Given the description of an element on the screen output the (x, y) to click on. 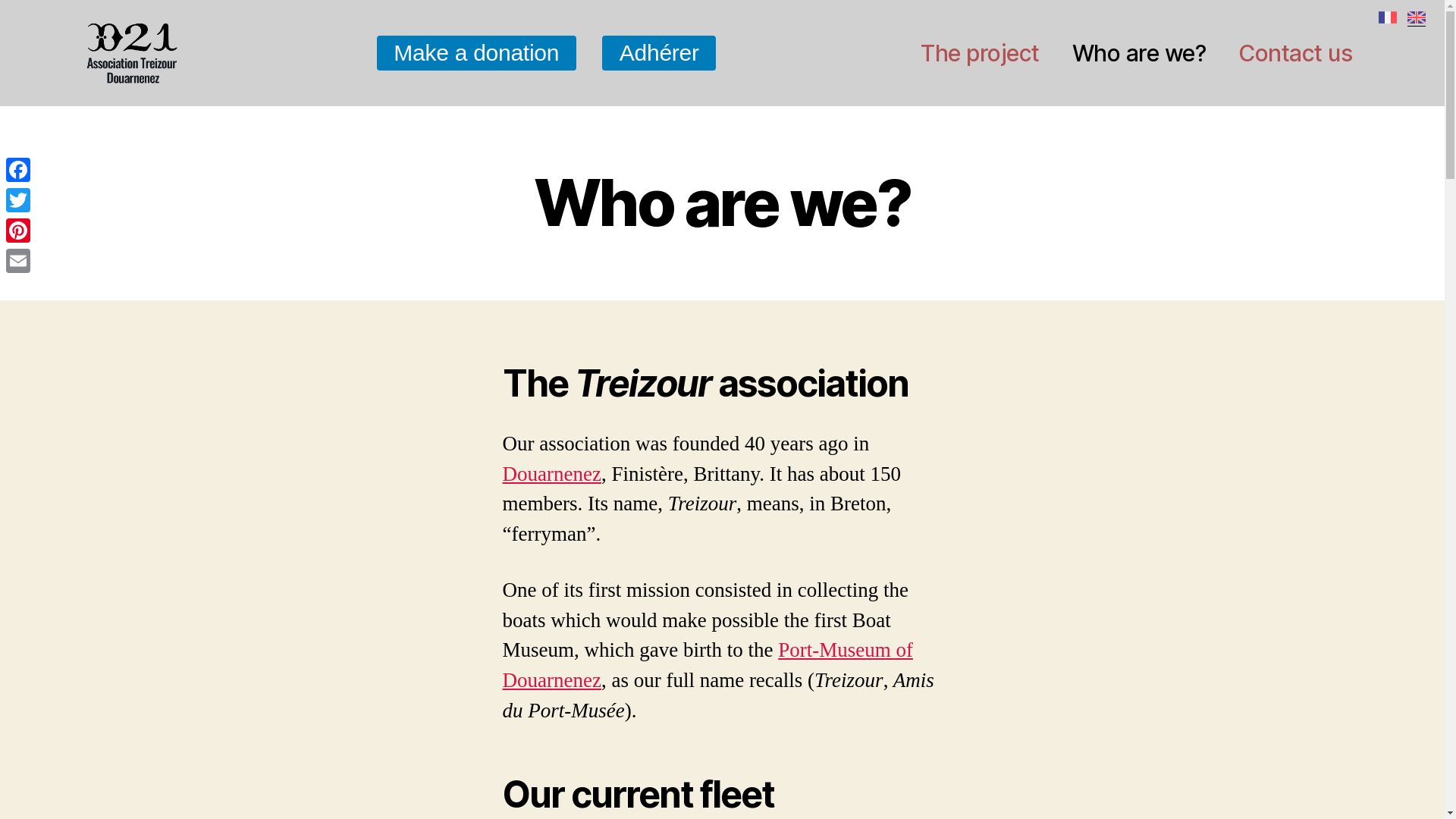
Douarnenez Element type: text (551, 473)
Email Element type: text (18, 260)
The project Element type: text (979, 52)
Make a donation Element type: text (476, 52)
Facebook Element type: text (18, 169)
Port-Museum of Douarnenez Element type: text (707, 664)
Contact us Element type: text (1294, 52)
Twitter Element type: text (18, 200)
Who are we? Element type: text (1139, 52)
Pinterest Element type: text (18, 230)
